Given the description of an element on the screen output the (x, y) to click on. 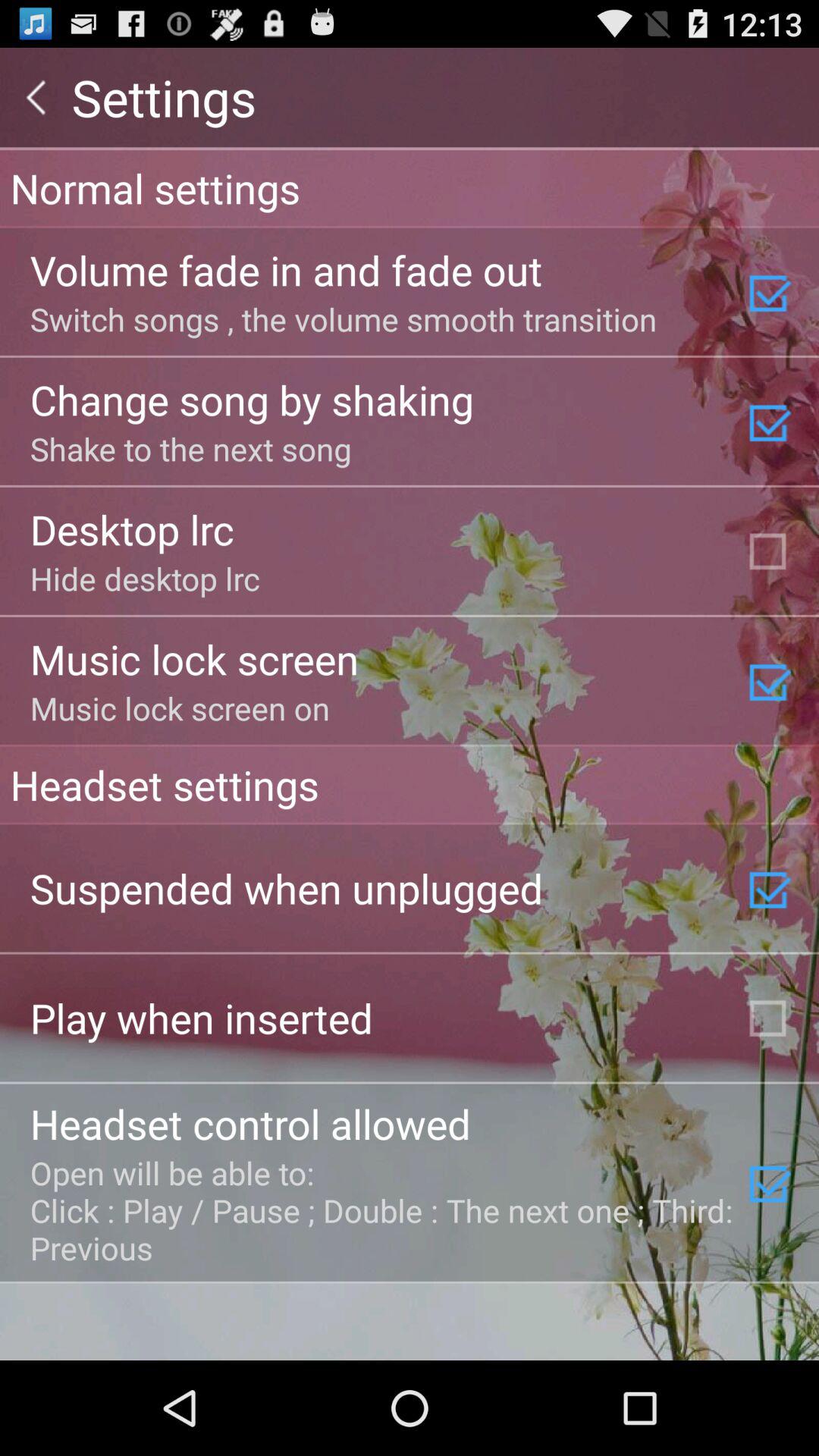
swipe until the volume fade in icon (286, 269)
